Given the description of an element on the screen output the (x, y) to click on. 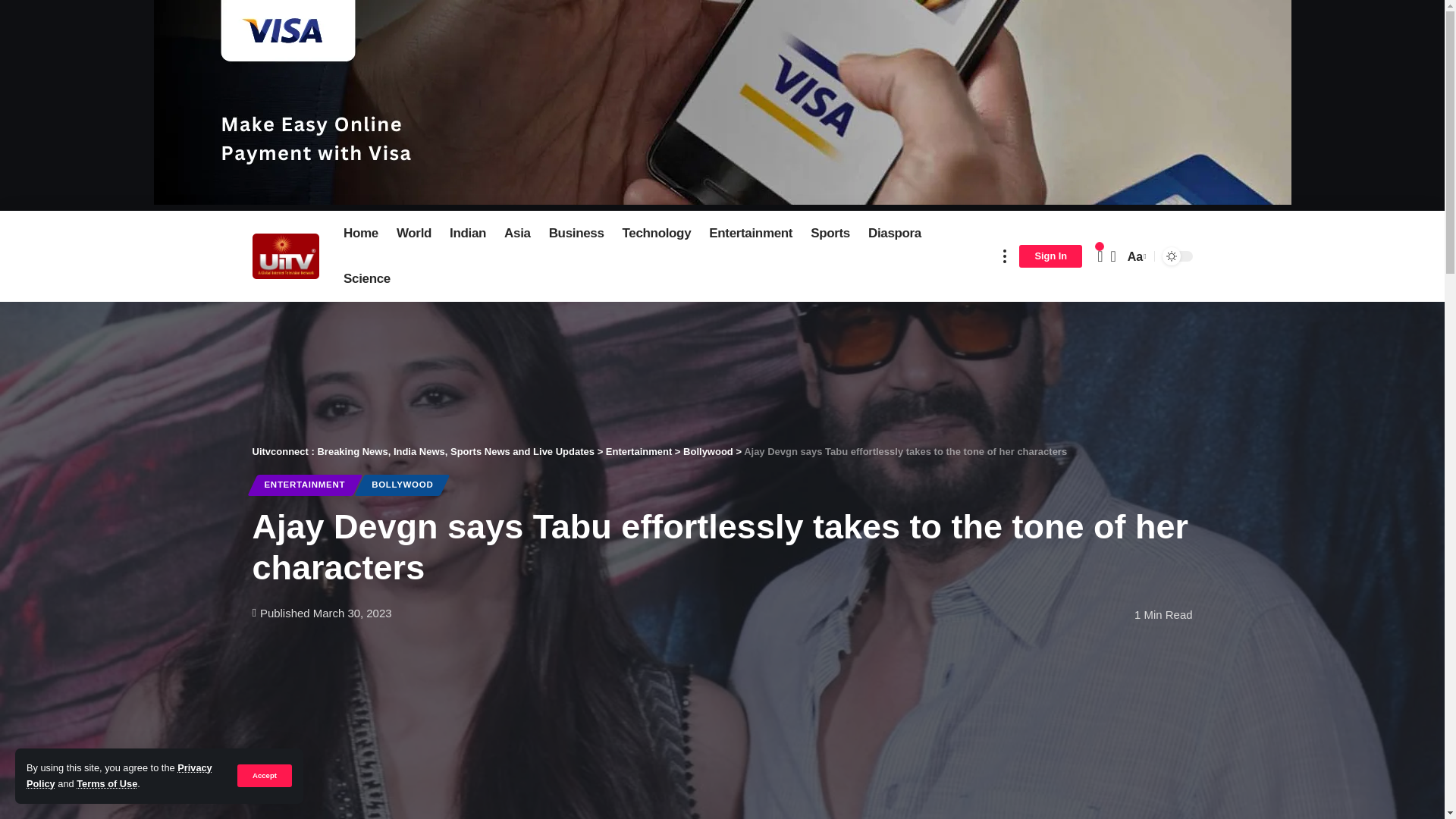
Science (366, 279)
World (414, 233)
Sports (830, 233)
Asia (517, 233)
Accept (264, 775)
Diaspora (894, 233)
Privacy Policy (119, 775)
Entertainment (751, 233)
Technology (656, 233)
Go to the Entertainment Category archives. (638, 451)
Go to the Bollywood Category archives. (707, 451)
Business (576, 233)
Home (360, 233)
Indian (468, 233)
